Given the description of an element on the screen output the (x, y) to click on. 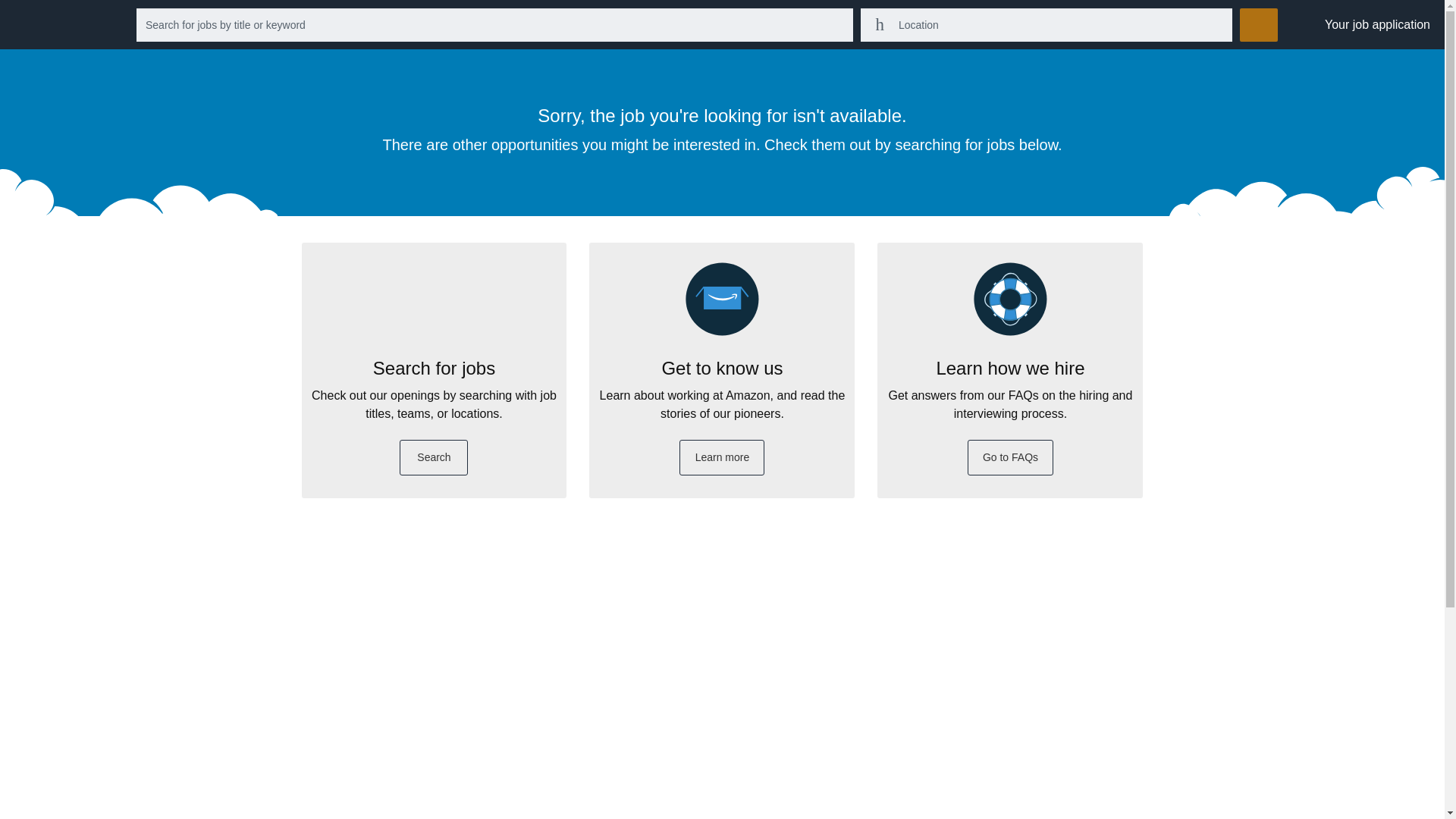
Your job application (1376, 24)
Skip to main content (11, 11)
Amazon Jobs home page (90, 30)
Learn more (721, 457)
Search (432, 457)
Go to FAQs (1011, 457)
